Given the description of an element on the screen output the (x, y) to click on. 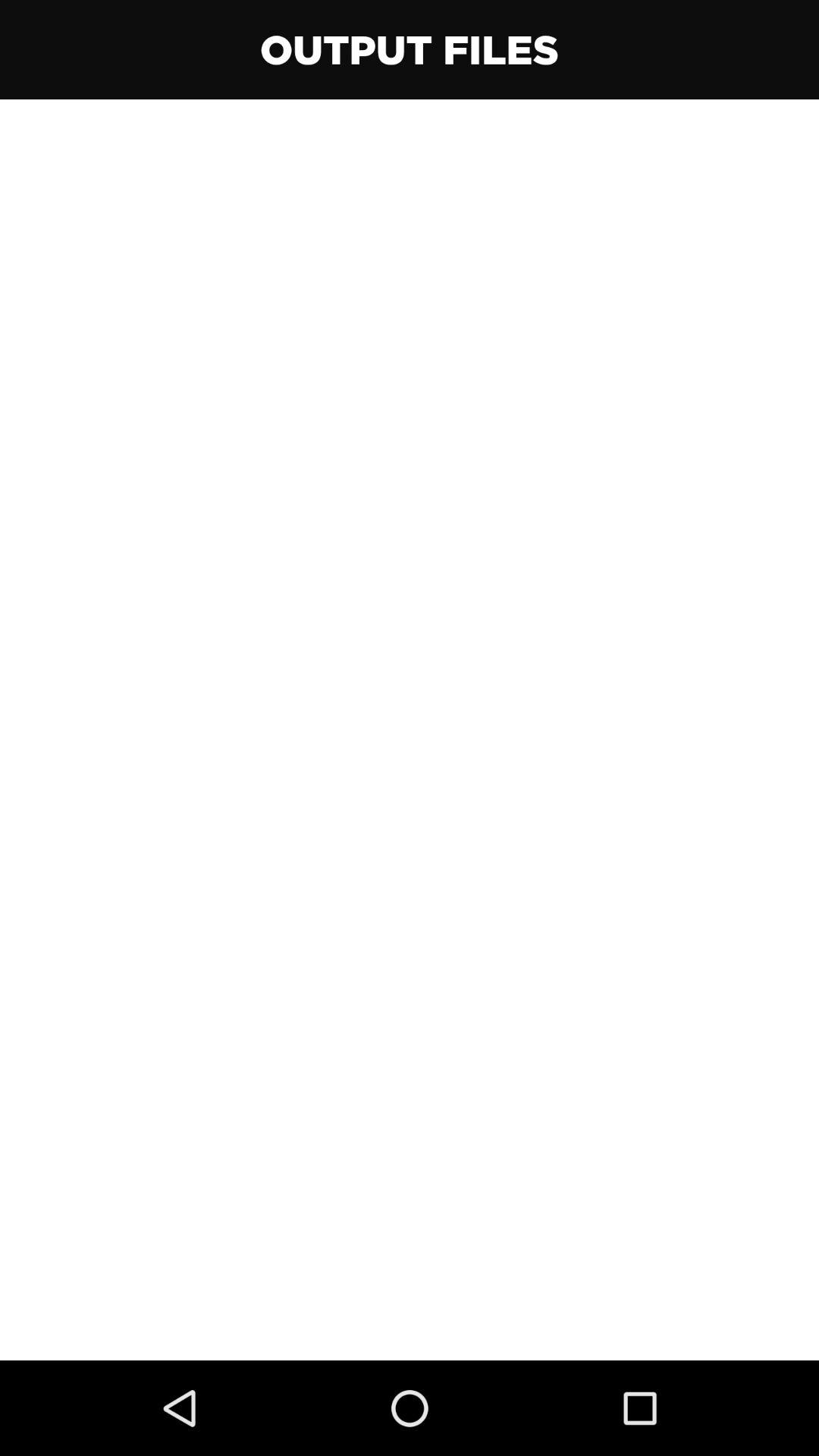
tap item at the center (409, 729)
